Given the description of an element on the screen output the (x, y) to click on. 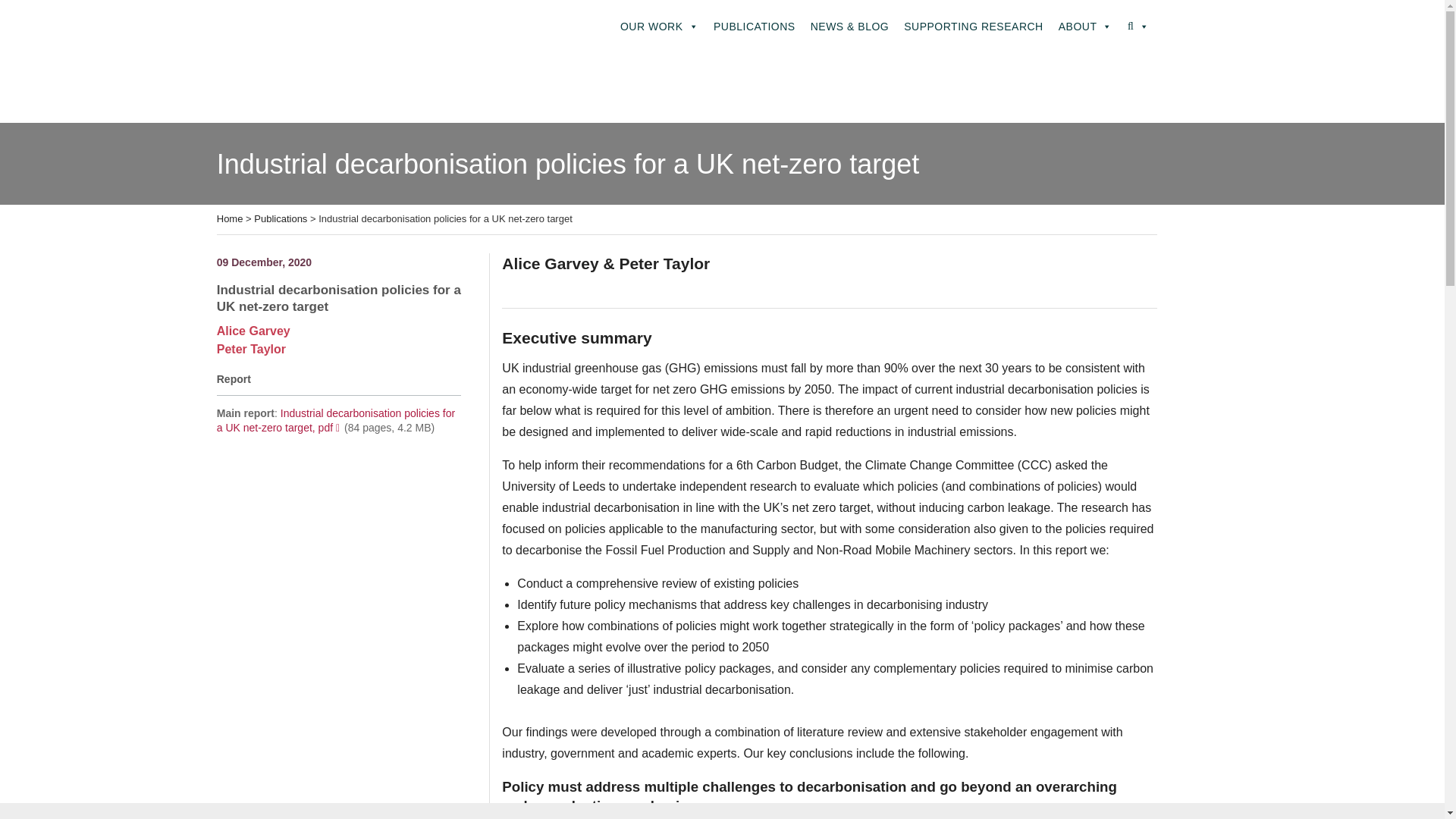
Home (229, 218)
SUPPORTING RESEARCH (973, 26)
ABOUT (1085, 26)
Alice Garvey (252, 330)
OUR WORK (659, 26)
Peter Taylor (250, 349)
Publications (280, 218)
PUBLICATIONS (754, 26)
CREDS home page (257, 14)
